Given the description of an element on the screen output the (x, y) to click on. 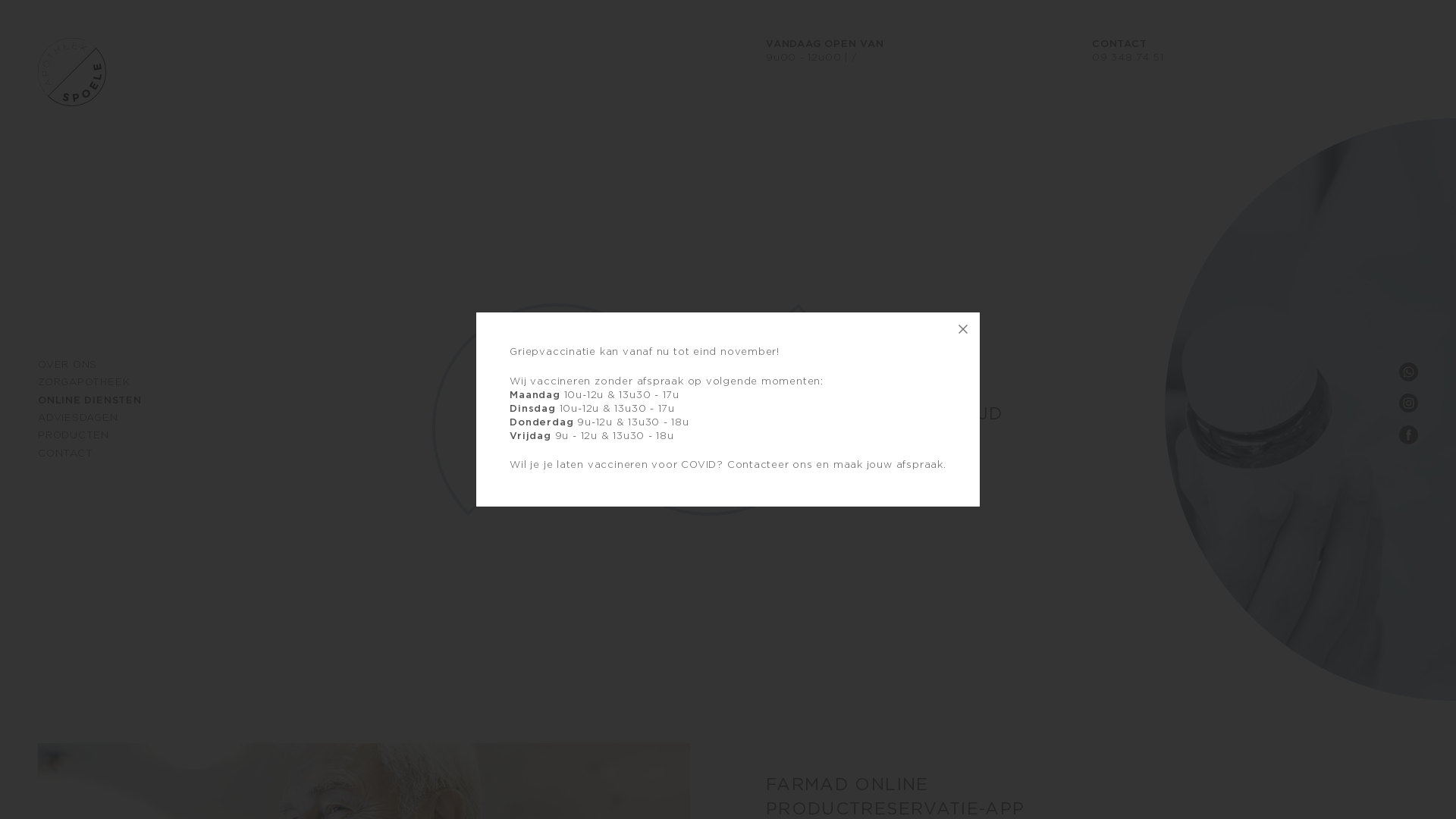
Close Element type: hover (962, 328)
PRODUCTEN Element type: text (73, 435)
CONTACT Element type: text (64, 453)
OVER ONS Element type: text (67, 365)
ZORGAPOTHEEK Element type: text (83, 382)
ONLINE DIENSTEN Element type: text (89, 400)
09 348 74 51 Element type: text (1127, 57)
ADVIESDAGEN Element type: text (77, 418)
